Given the description of an element on the screen output the (x, y) to click on. 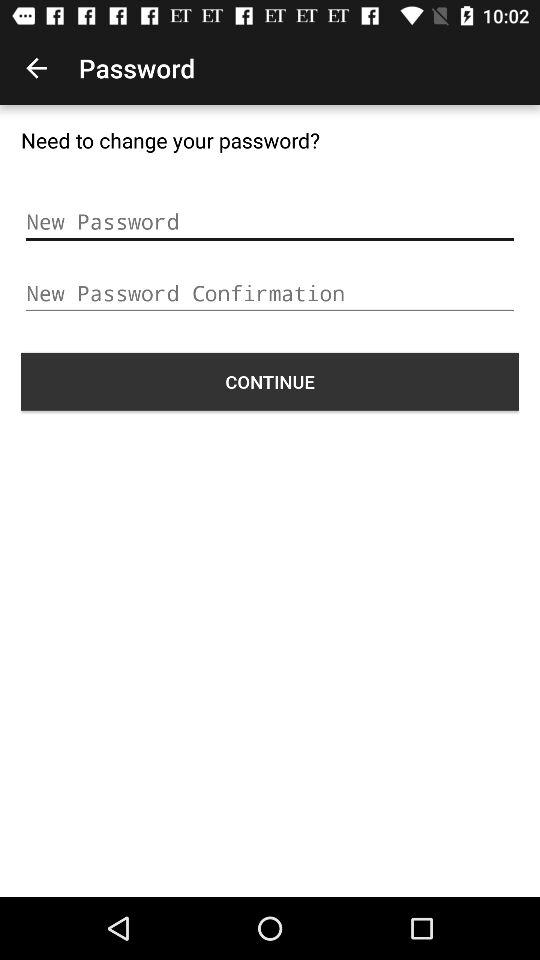
click item above the need to change (36, 68)
